Given the description of an element on the screen output the (x, y) to click on. 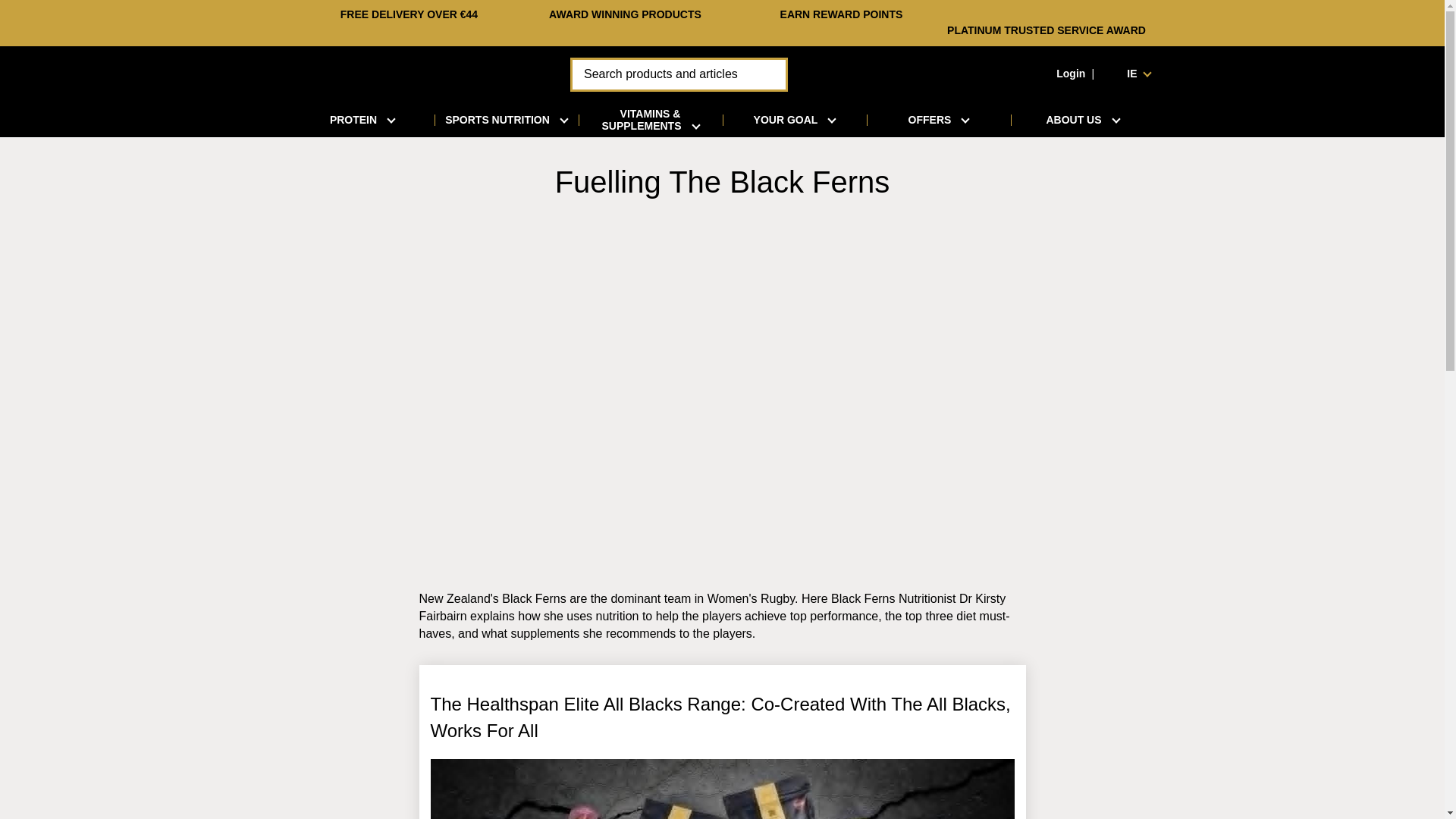
Login (1070, 73)
Search products and articles (678, 74)
AWARD WINNING PRODUCTS (624, 14)
PROTEIN (361, 120)
Login (1070, 73)
PLATINUM TRUSTED SERVICE AWARD (1046, 30)
EARN REWARD POINTS (841, 14)
Healthspan (399, 73)
Official Partners (624, 14)
Informed Sport (1016, 73)
